Given the description of an element on the screen output the (x, y) to click on. 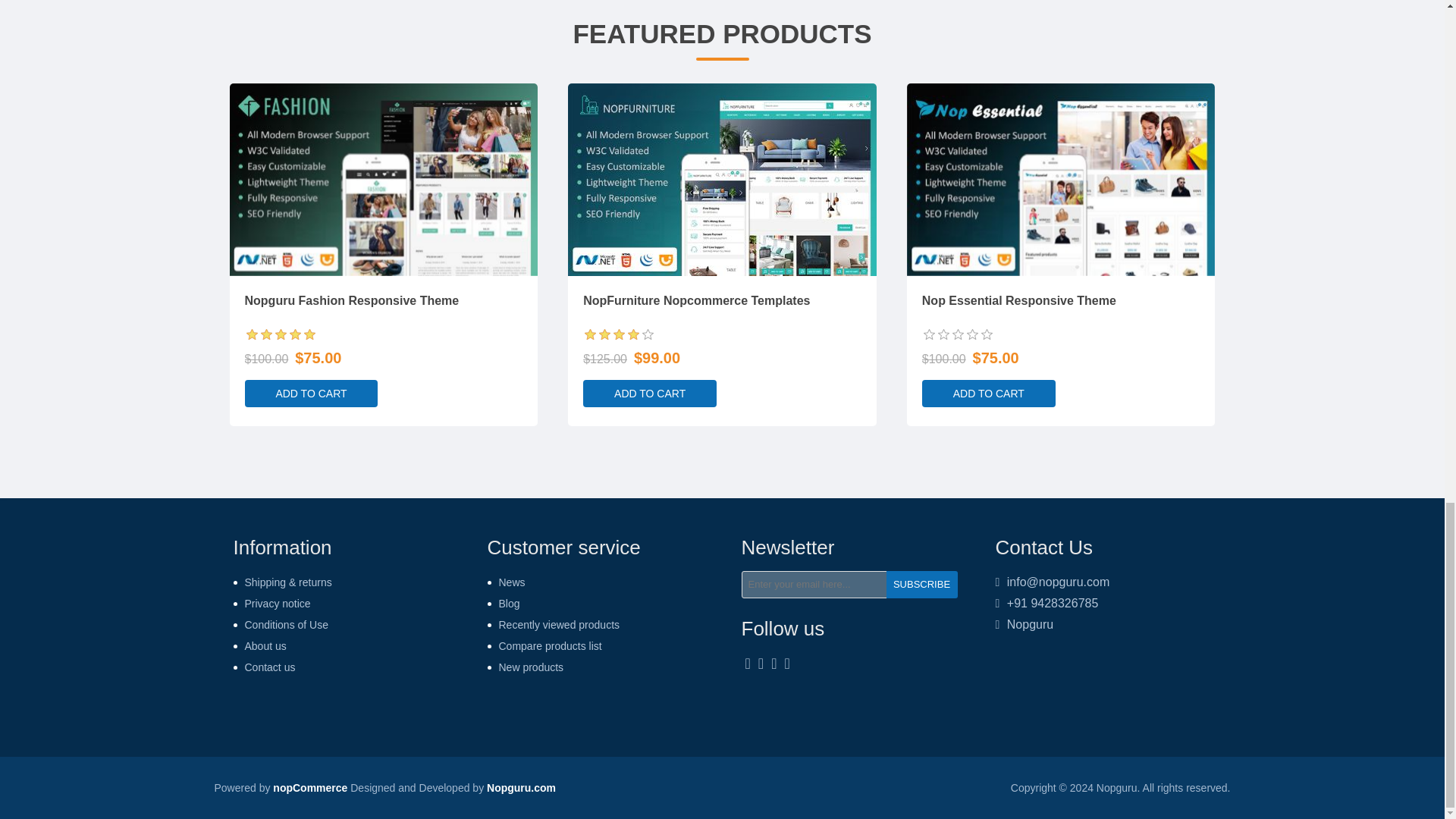
nopCommerce Nop Essential Responsive Theme (1061, 179)
Show details for NopFurniture Nopcommerce Templates (721, 179)
Show details for Nopguru Fashion Responsive Theme (382, 179)
Show details for Nopguru Fashion Responsive Theme (382, 180)
nopCommerce Nop Essential Responsive Theme (1061, 180)
Show details for NopFurniture Nopcommerce Templates (721, 180)
